Given the description of an element on the screen output the (x, y) to click on. 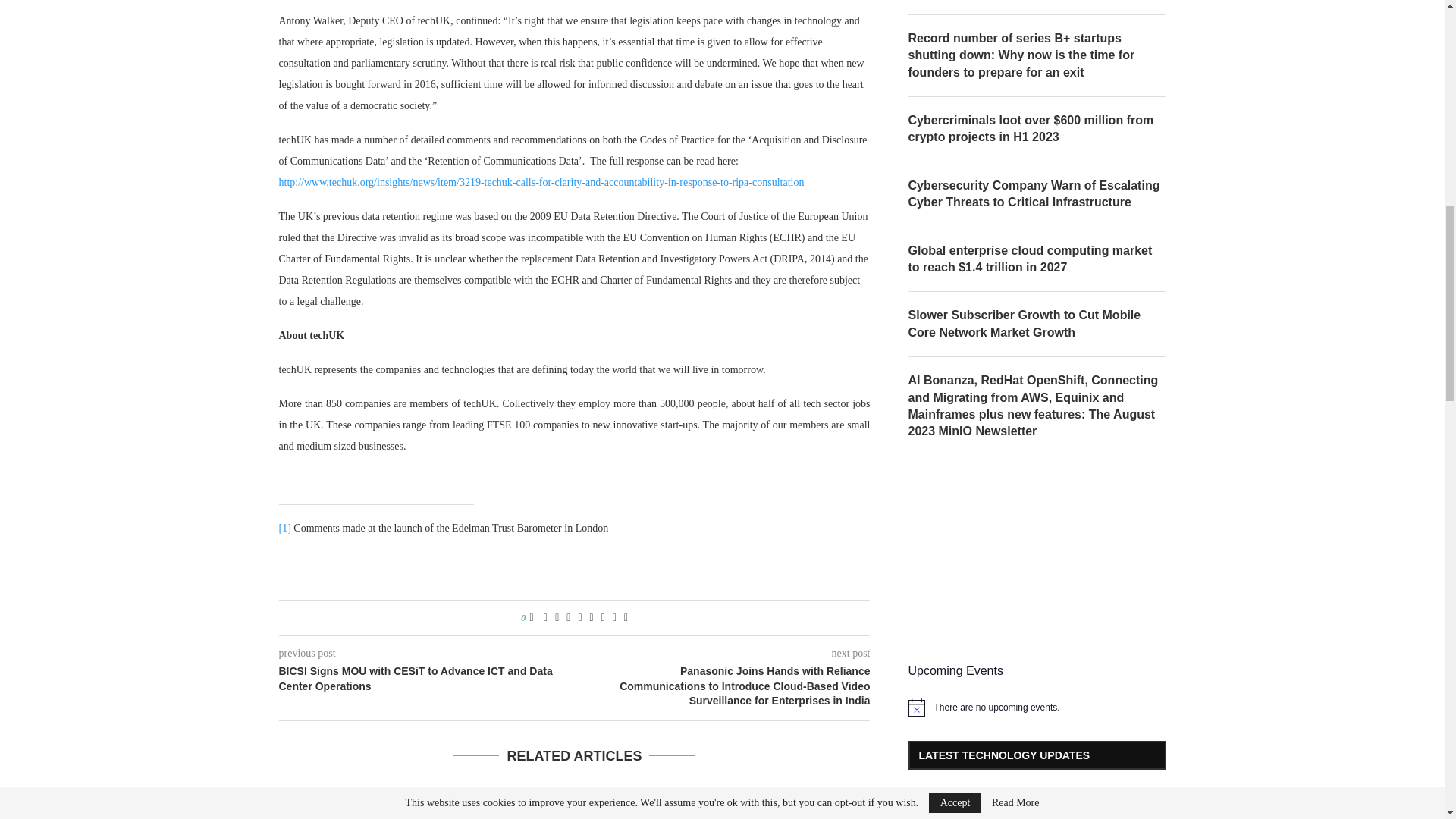
Like (530, 617)
